Given the description of an element on the screen output the (x, y) to click on. 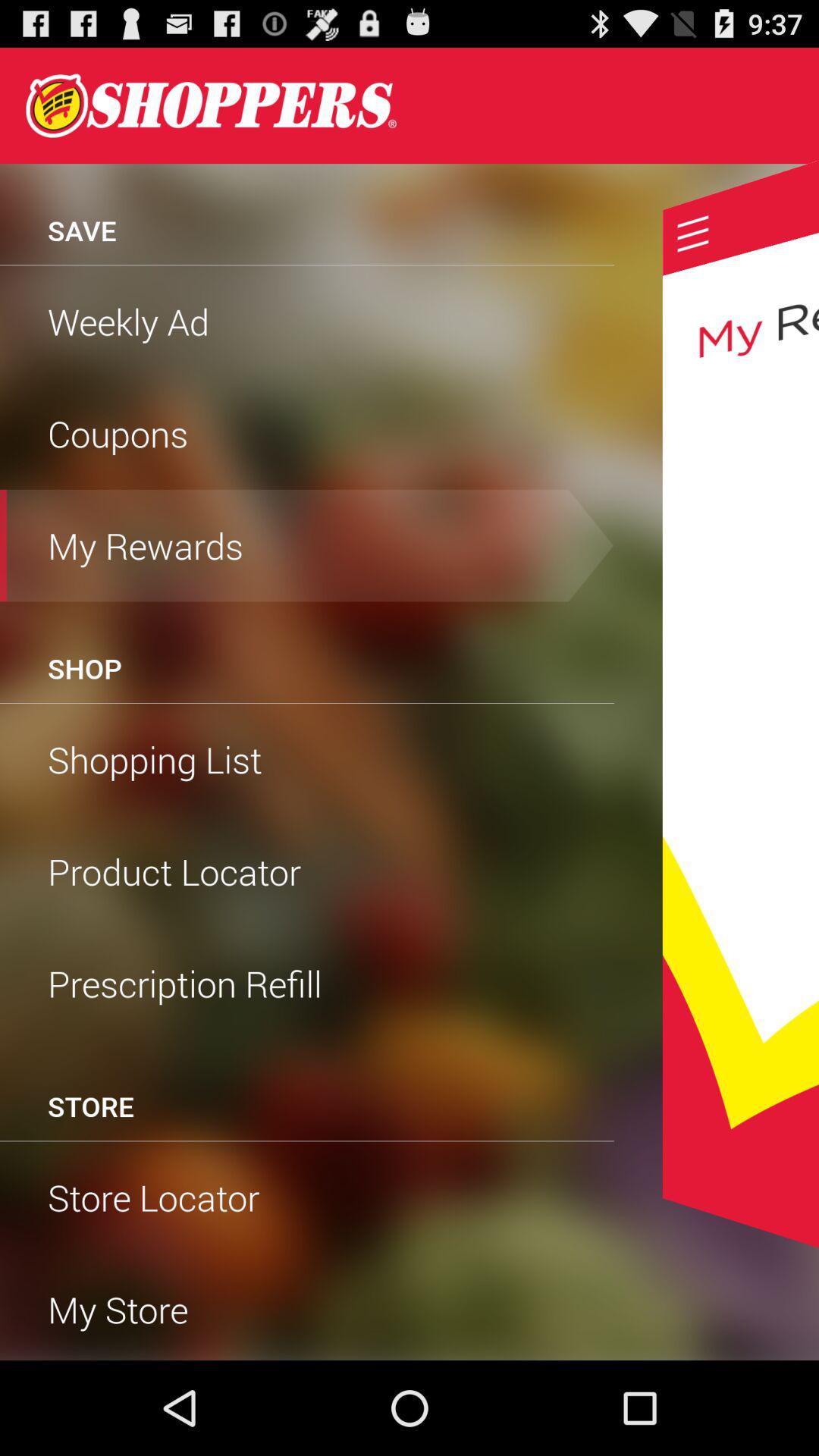
opens home page (211, 105)
